Given the description of an element on the screen output the (x, y) to click on. 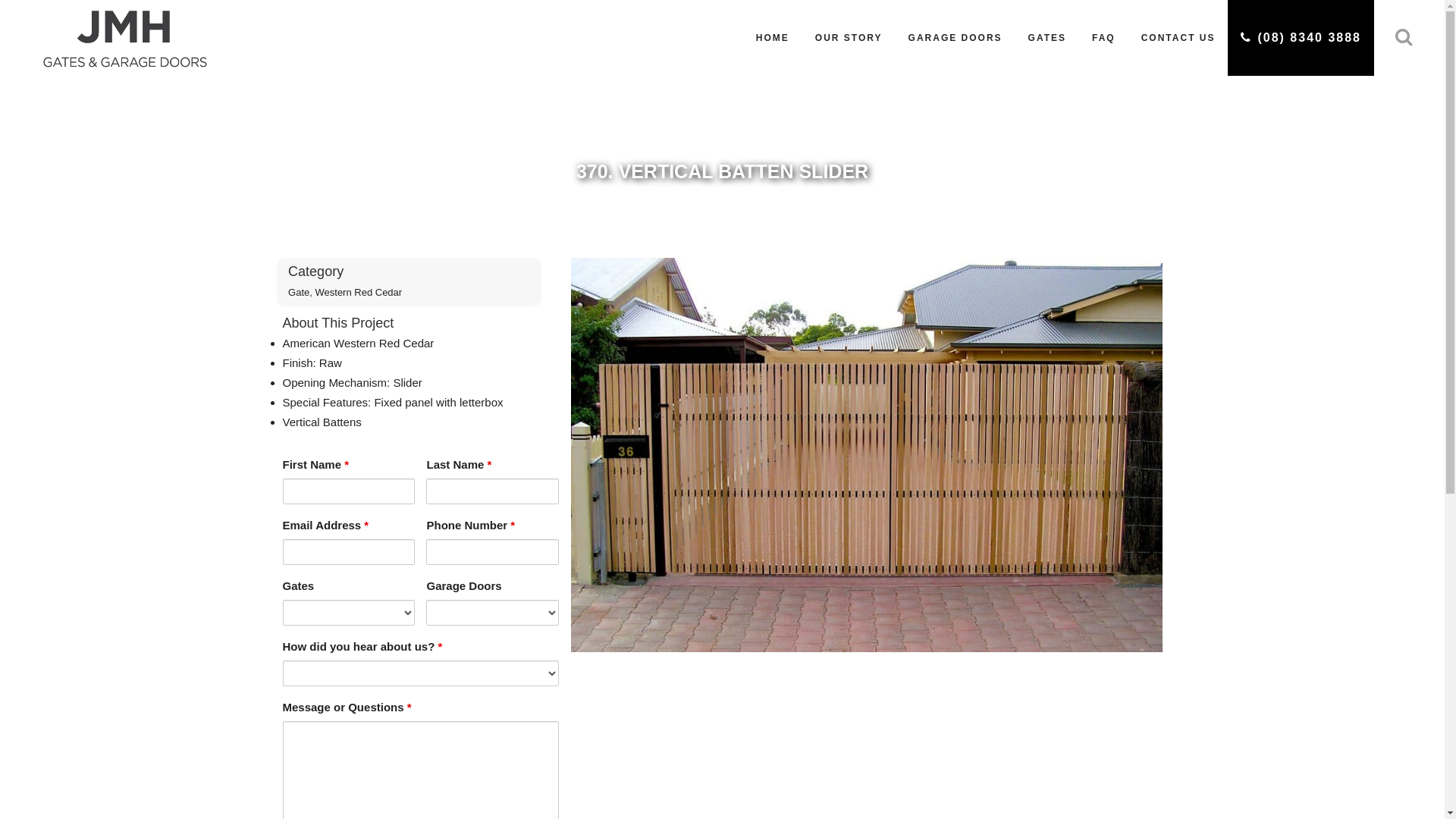
HOME Element type: text (772, 37)
GARAGE DOORS Element type: text (955, 37)
GATES Element type: text (1047, 37)
OUR STORY Element type: text (848, 37)
FAQ Element type: text (1103, 37)
Vertical Batten Slider Element type: hover (866, 661)
(08) 8340 3888 Element type: text (1300, 37)
CONTACT US Element type: text (1178, 37)
